Given the description of an element on the screen output the (x, y) to click on. 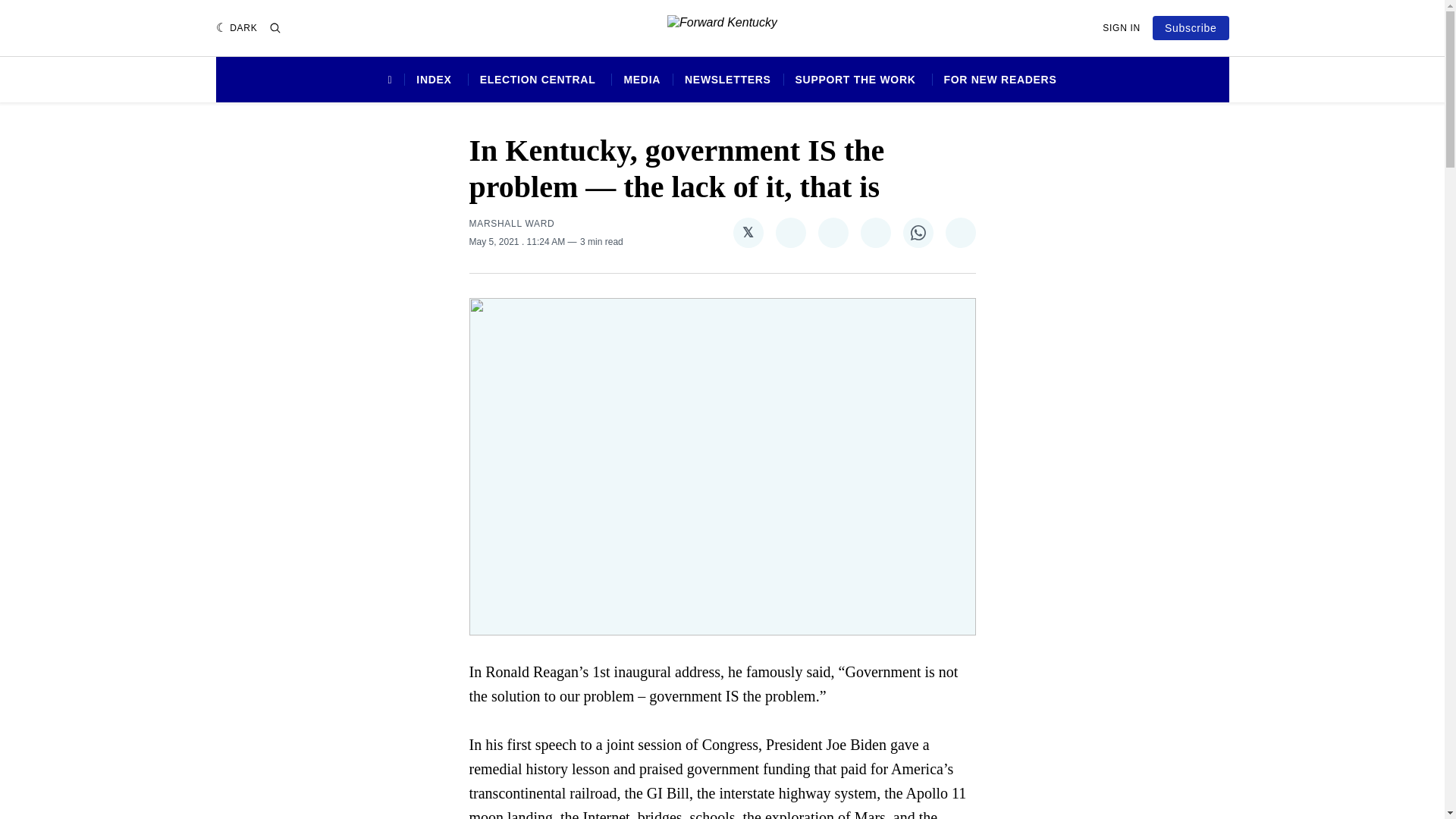
MARSHALL WARD (511, 223)
NEWSLETTERS (727, 79)
SUPPORT THE WORK (854, 79)
ELECTION CENTRAL (537, 79)
Subscribe (1190, 27)
MEDIA (642, 79)
DARK (236, 28)
Share on LinkedIn (874, 232)
INDEX (433, 79)
Share on WhatsApp (917, 232)
